Given the description of an element on the screen output the (x, y) to click on. 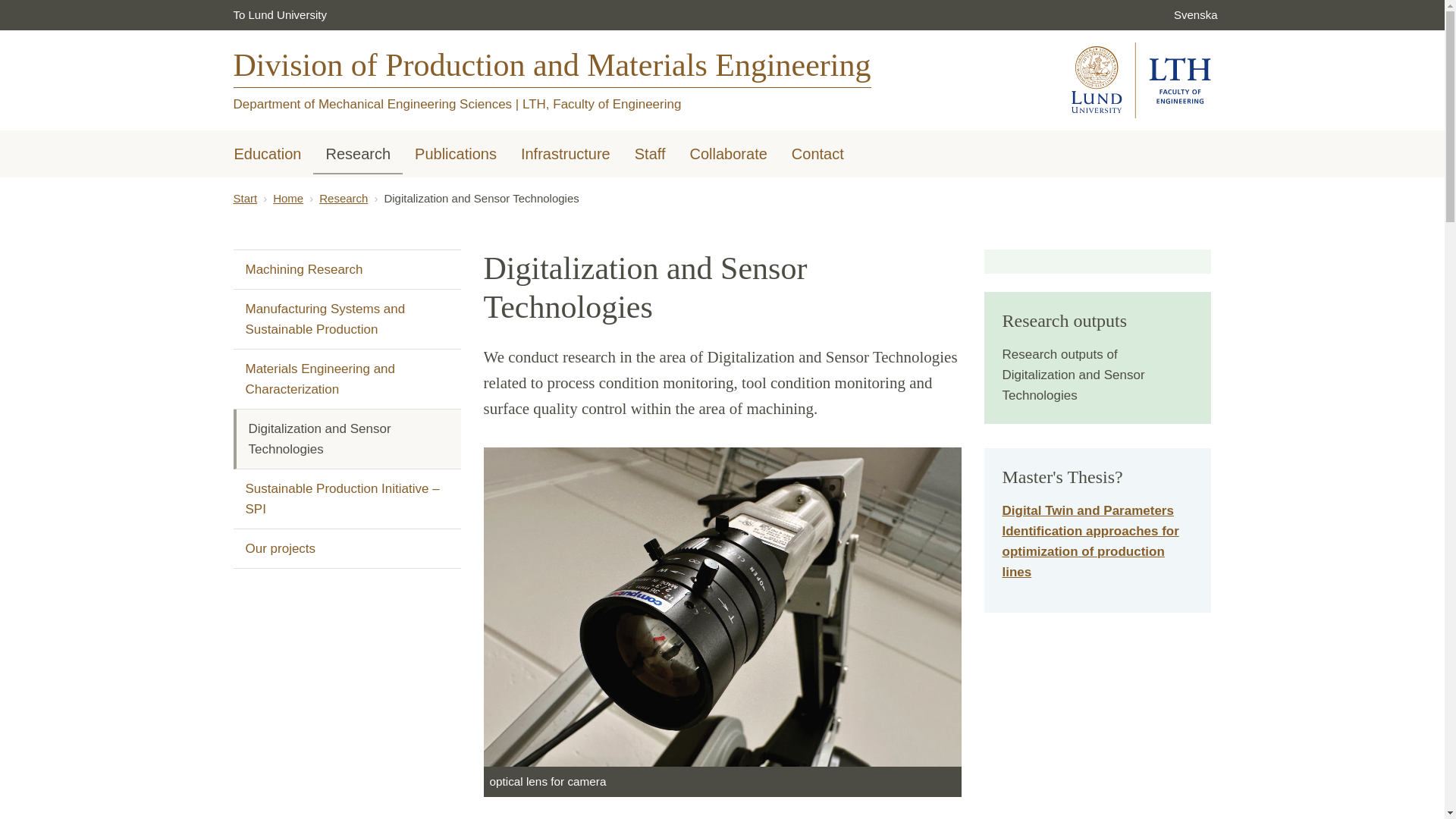
LTH, Faculty of Engineering (601, 104)
Contact (817, 154)
Infrastructure (565, 154)
Department of Mechanical Engineering Sciences (372, 104)
Division of Production and Materials Engineering (551, 78)
Research (343, 197)
Infrastructure (565, 154)
Staff (650, 154)
Research (358, 154)
Publications (455, 154)
